Given the description of an element on the screen output the (x, y) to click on. 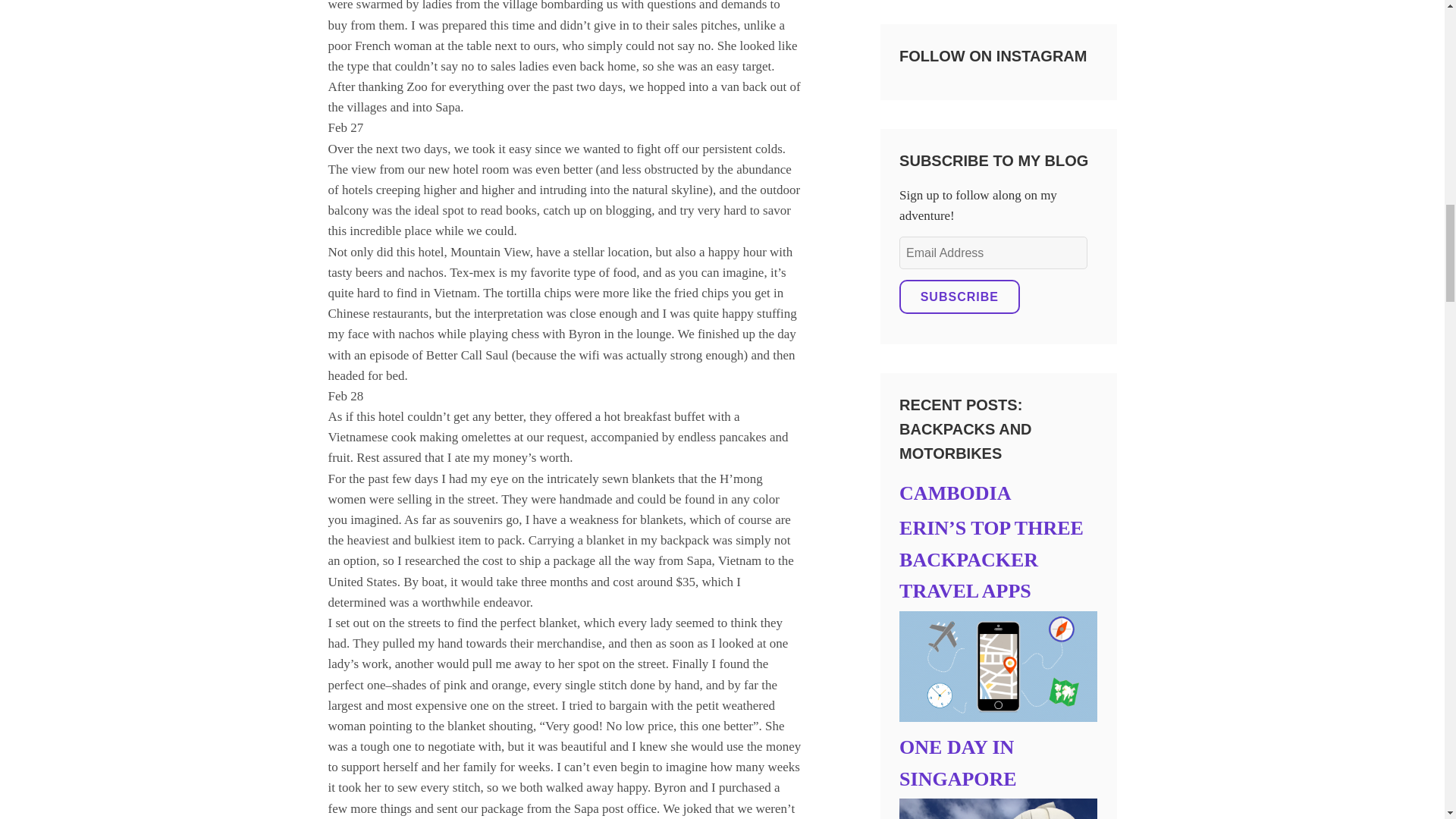
CAMBODIA (954, 493)
ONE DAY IN SINGAPORE (957, 763)
SUBSCRIBE (959, 297)
